Given the description of an element on the screen output the (x, y) to click on. 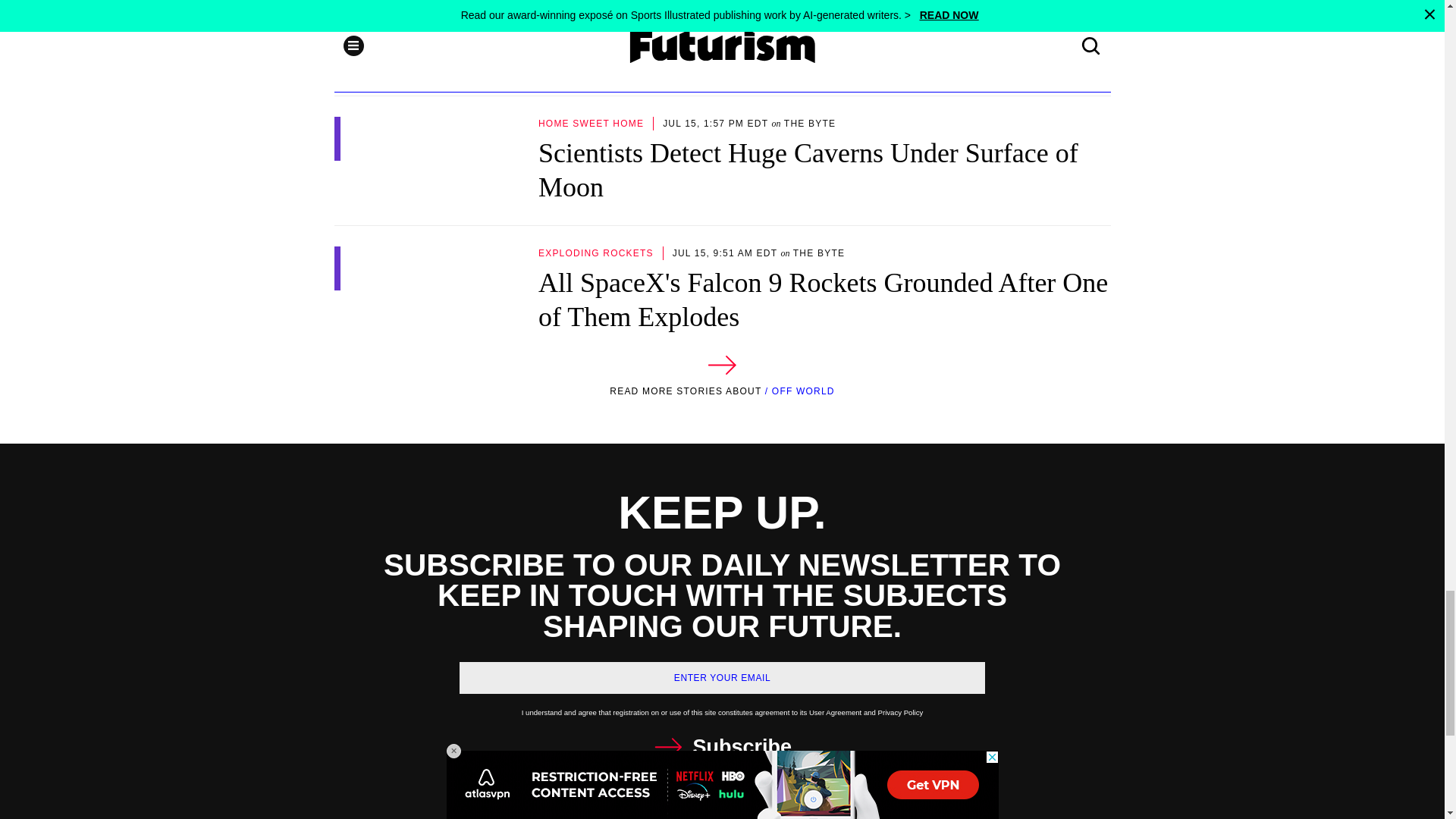
Subscribe (722, 747)
